Given the description of an element on the screen output the (x, y) to click on. 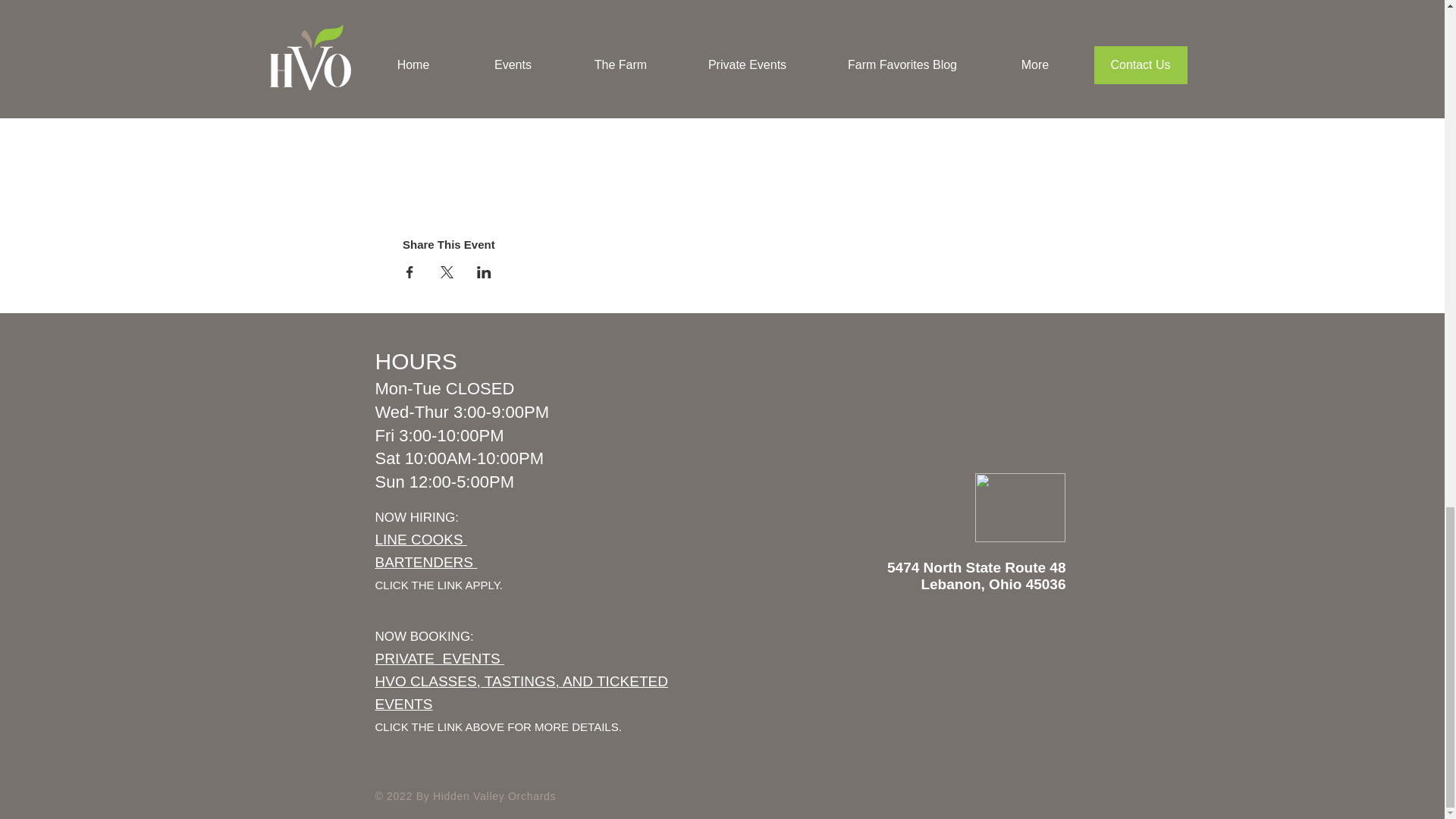
PRIVATE  EVENTS  (425, 551)
HVO CLASSES, TASTINGS, AND TICKETED EVENTS (438, 658)
